Given the description of an element on the screen output the (x, y) to click on. 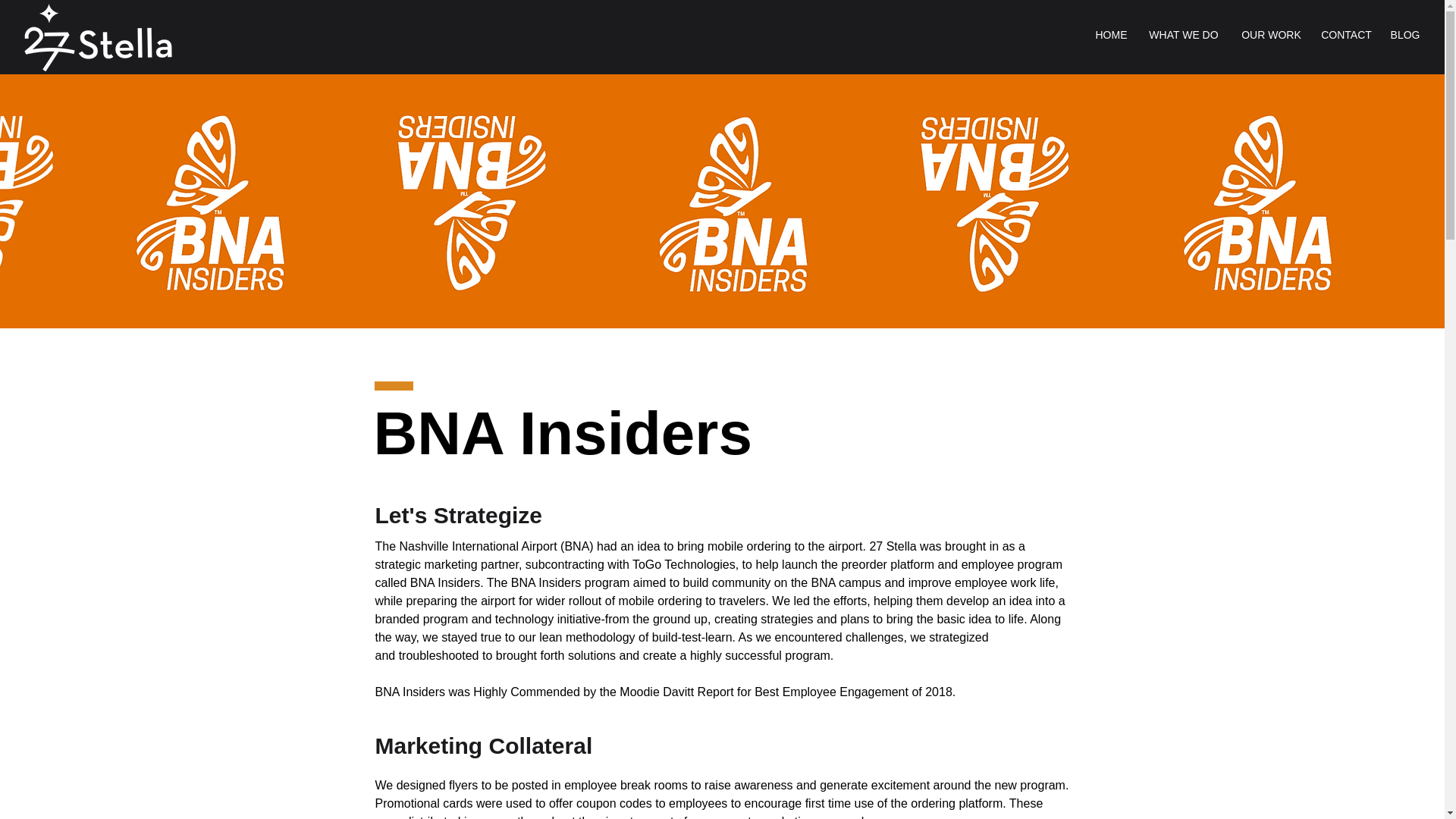
OUR WORK (1270, 34)
BLOG (1404, 34)
HOME (1111, 34)
CONTACT (1345, 34)
WHAT WE DO (1183, 34)
